Given the description of an element on the screen output the (x, y) to click on. 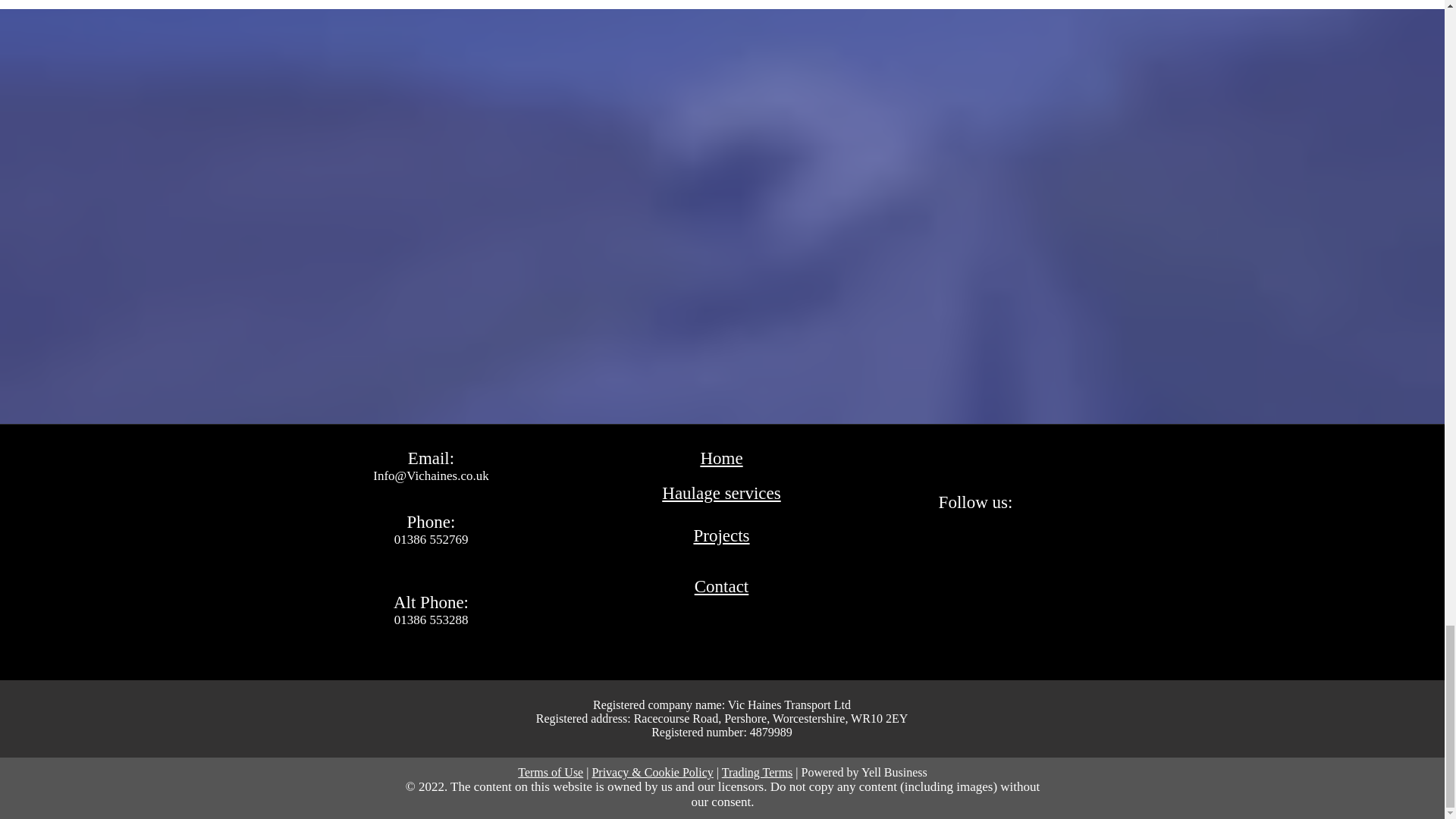
Projects (721, 535)
Haulage services (721, 493)
Contact (721, 586)
Terms of Use (550, 771)
Trading Terms (757, 771)
Home (721, 457)
